Given the description of an element on the screen output the (x, y) to click on. 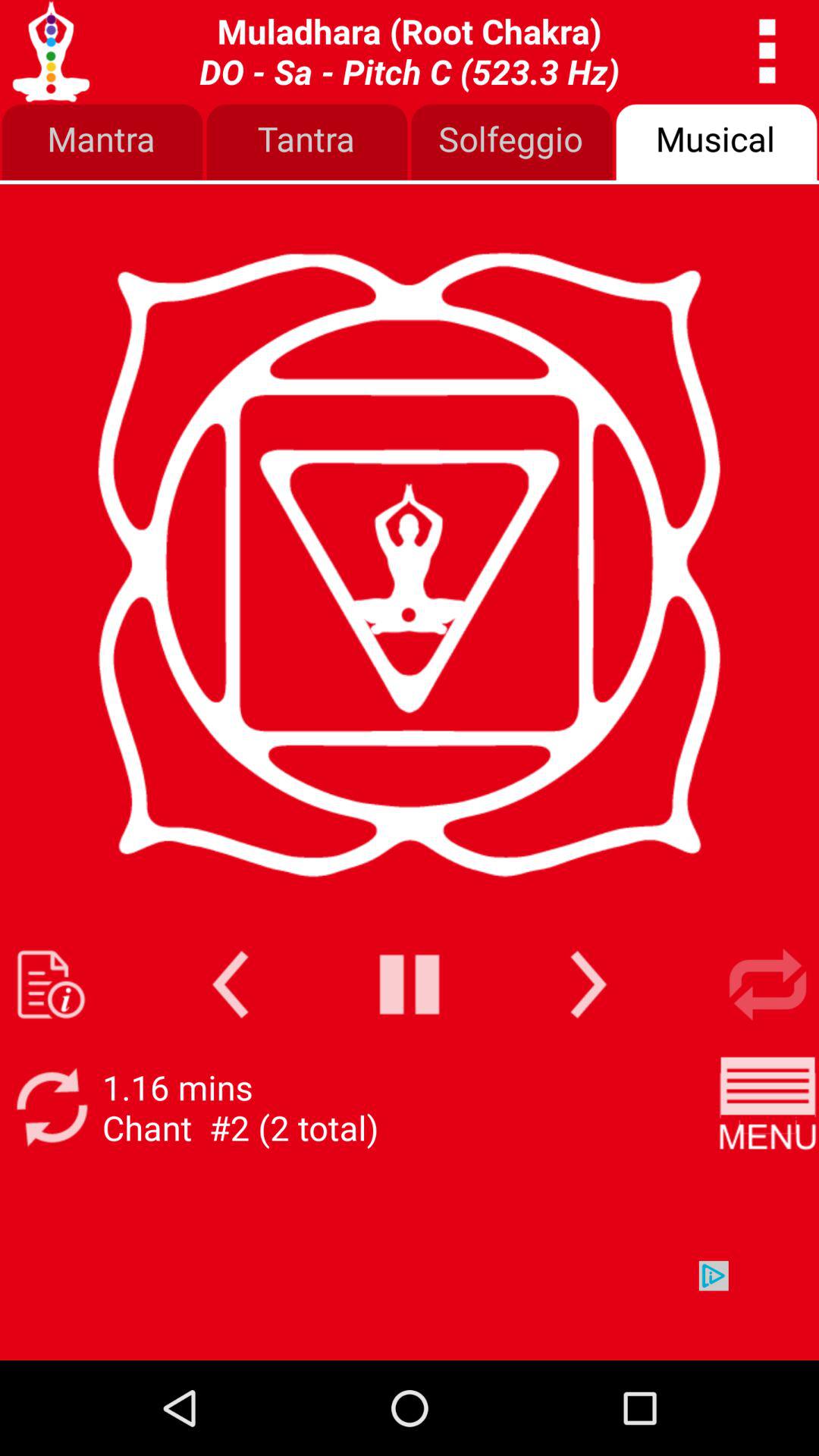
tap item to the left of the musical icon (511, 143)
